Given the description of an element on the screen output the (x, y) to click on. 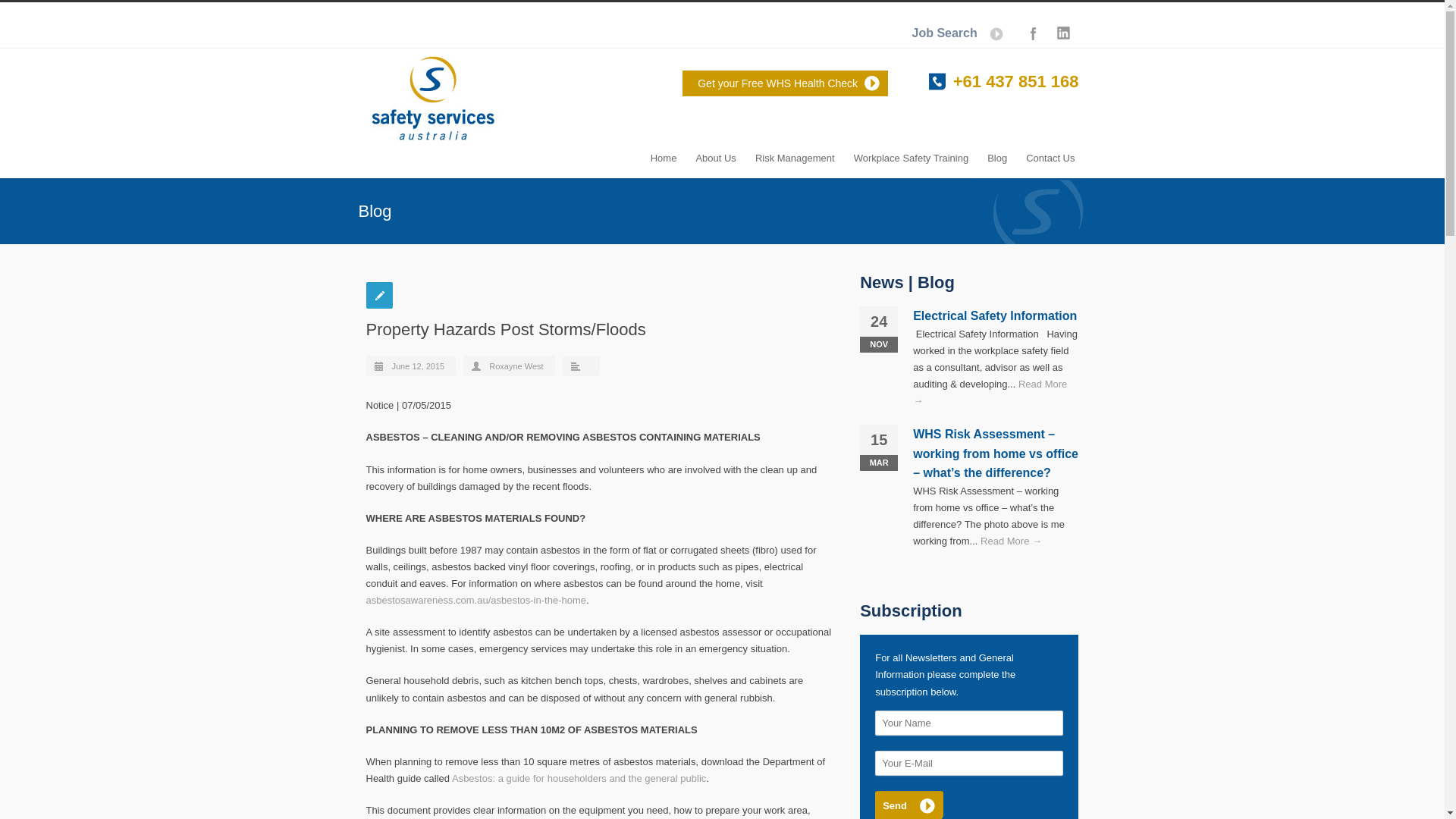
Job Search (964, 33)
Electrical Safety Information (994, 315)
LinkedIn (1063, 33)
Risk Management (794, 143)
 Asbestos: a guide for householders and the general public (577, 778)
Workplace Safety Training (911, 143)
Facebook (1032, 33)
Send (909, 805)
Get your Free WHS Health Check (785, 83)
Get your Free WHS Health Check (785, 83)
